Given the description of an element on the screen output the (x, y) to click on. 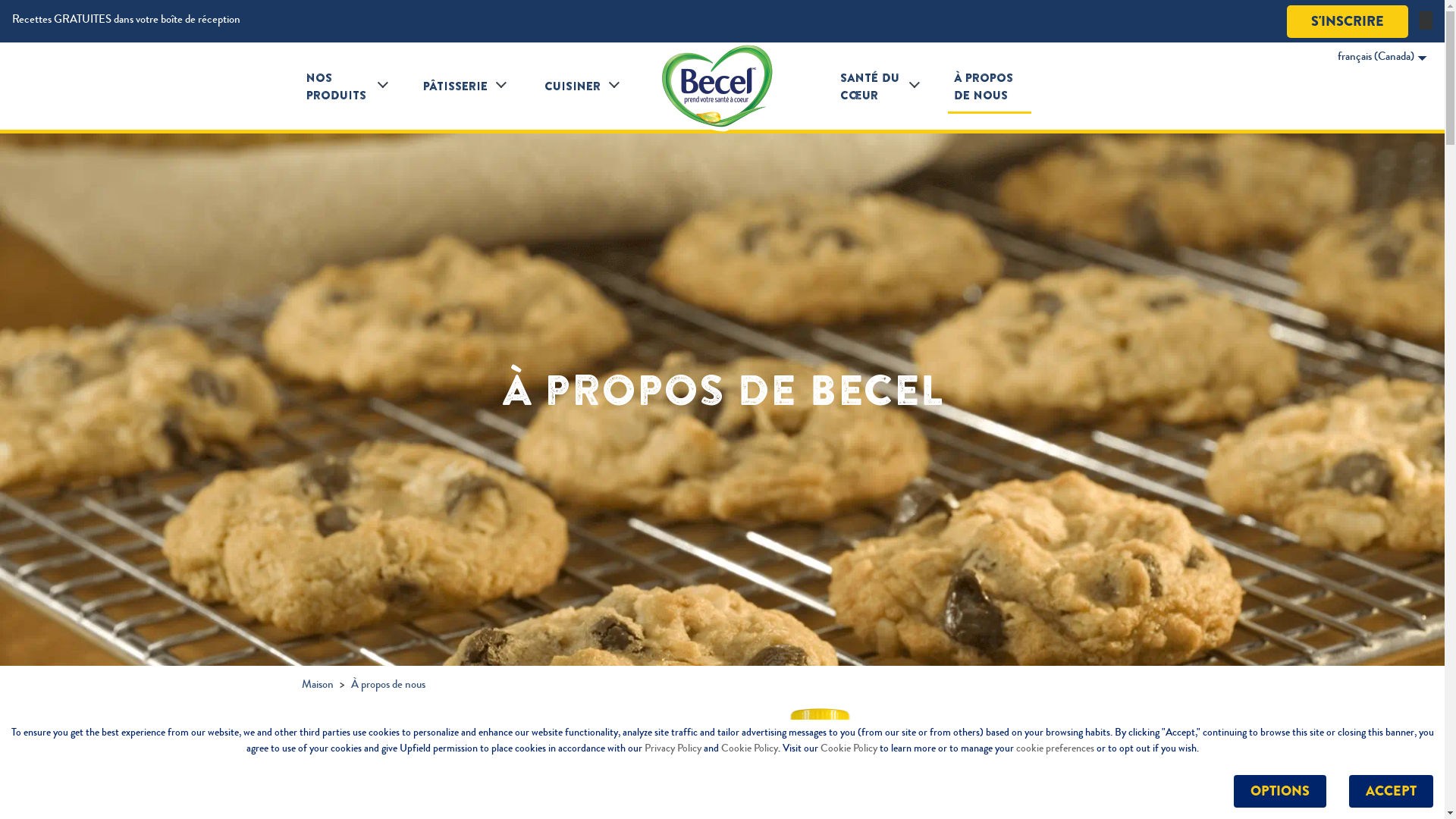
Cookie Policy Element type: text (748, 748)
CUISINER Element type: text (572, 85)
Privacy Policy Element type: text (672, 748)
Maison Element type: text (317, 685)
cookie preferences Element type: text (1055, 748)
ACCEPT Element type: text (1391, 791)
Logo Black Element type: hover (721, 85)
NOS PRODUITS Element type: text (337, 85)
S'INSCRIRE Element type: text (1347, 20)
Cookie Policy Element type: text (848, 748)
OPTIONS Element type: text (1279, 791)
